Given the description of an element on the screen output the (x, y) to click on. 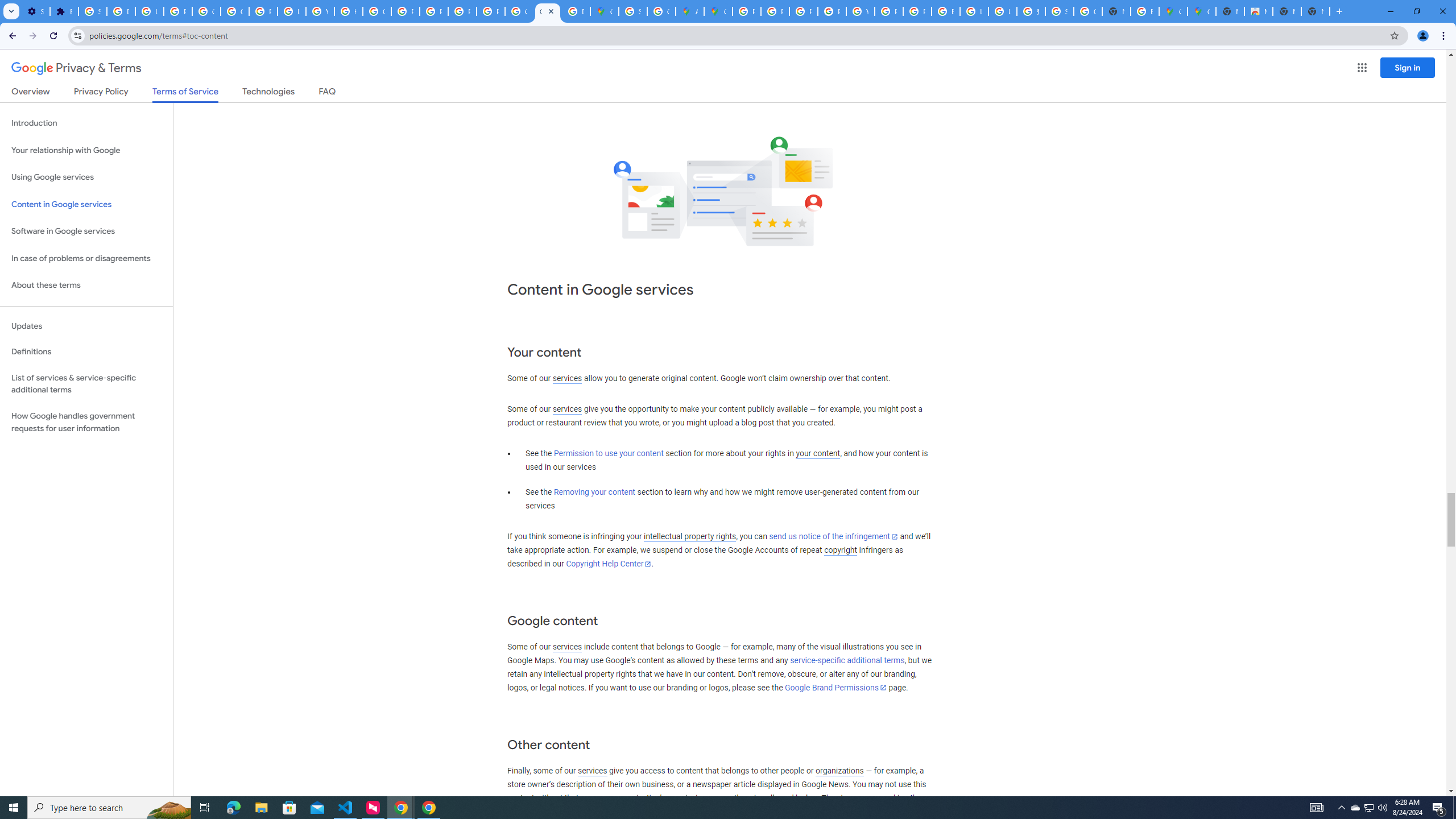
Overview (30, 93)
Google Account Help (206, 11)
service-specific additional terms (847, 660)
Content in Google services (86, 204)
Delete photos & videos - Computer - Google Photos Help (120, 11)
In case of problems or disagreements (86, 258)
Copyright Help Center (609, 564)
Privacy Help Center - Policies Help (405, 11)
